Given the description of an element on the screen output the (x, y) to click on. 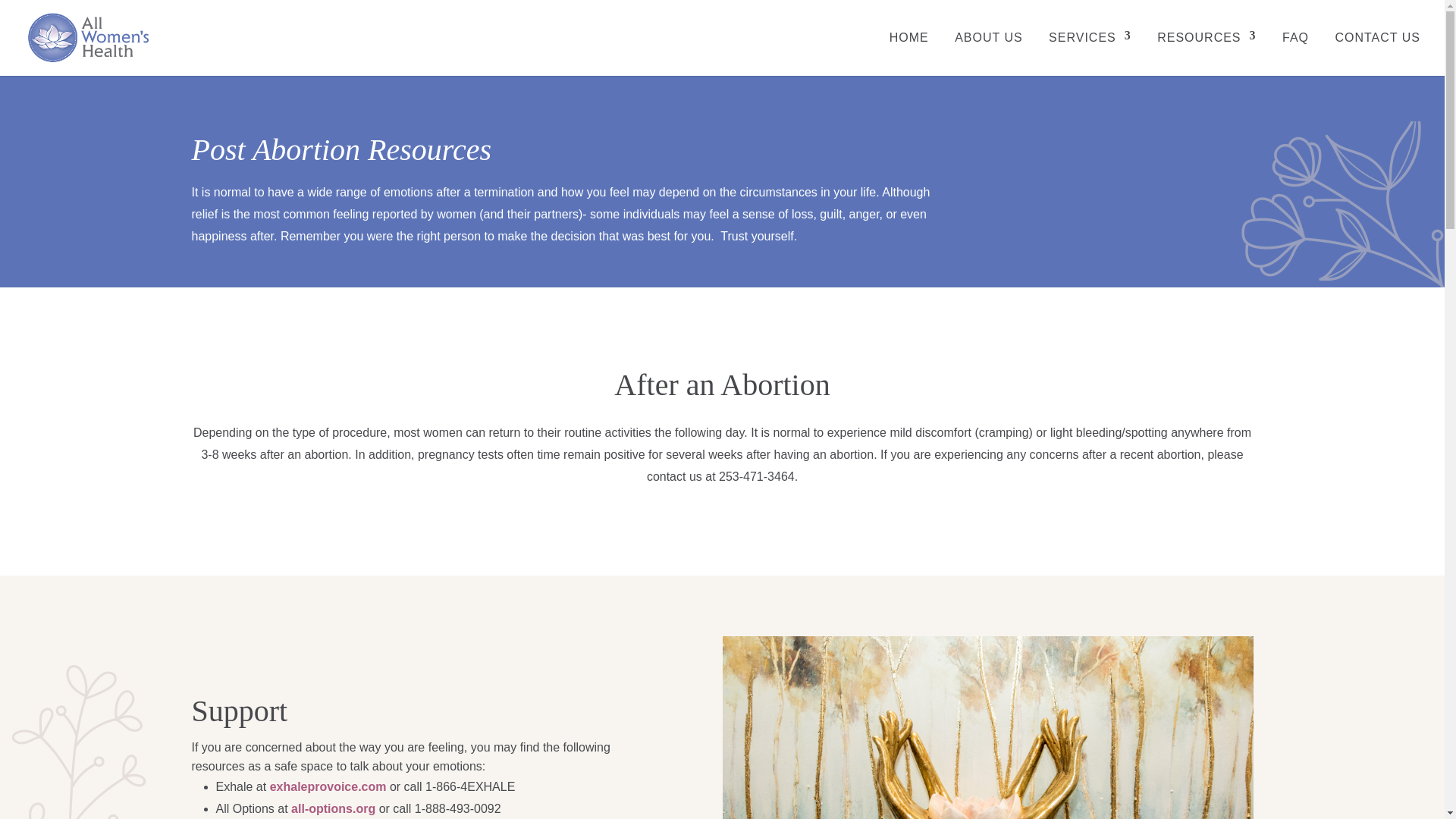
exhaleprovoice.com (328, 786)
lotushands (987, 727)
CONTACT US (1378, 54)
SERVICES (1089, 54)
all-options.org (333, 808)
ABOUT US (989, 54)
HOME (908, 54)
RESOURCES (1206, 54)
